Given the description of an element on the screen output the (x, y) to click on. 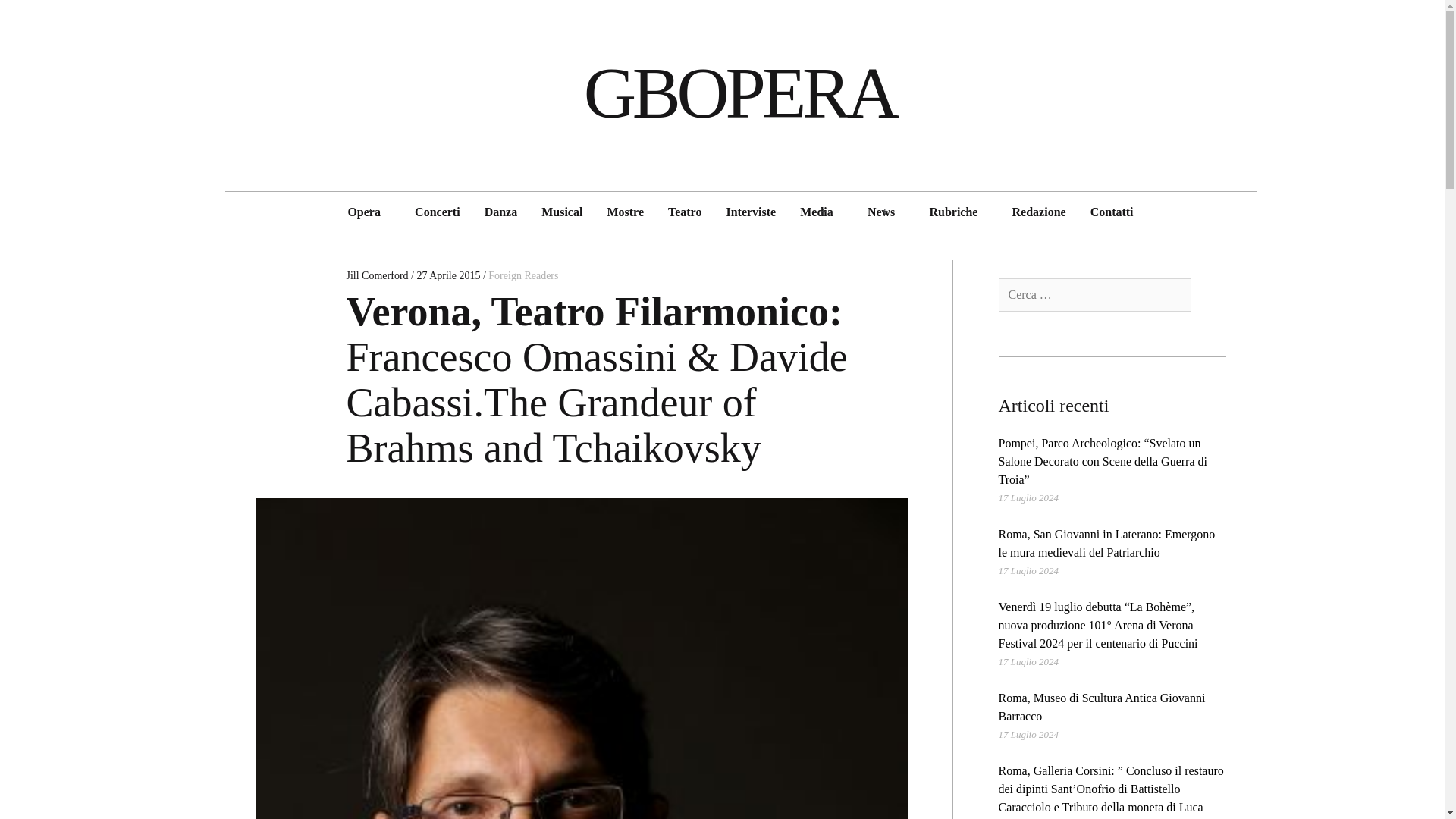
Cerca (1208, 295)
Cerca (1208, 295)
Teatro (684, 211)
Media (816, 211)
GBOPERA (739, 92)
Concerti (437, 211)
Jill Comerford (378, 275)
Danza (501, 211)
Redazione (1039, 211)
Contatti (1112, 211)
Foreign Readers (522, 275)
Rubriche (953, 211)
Mostre (624, 211)
News (881, 211)
